Given the description of an element on the screen output the (x, y) to click on. 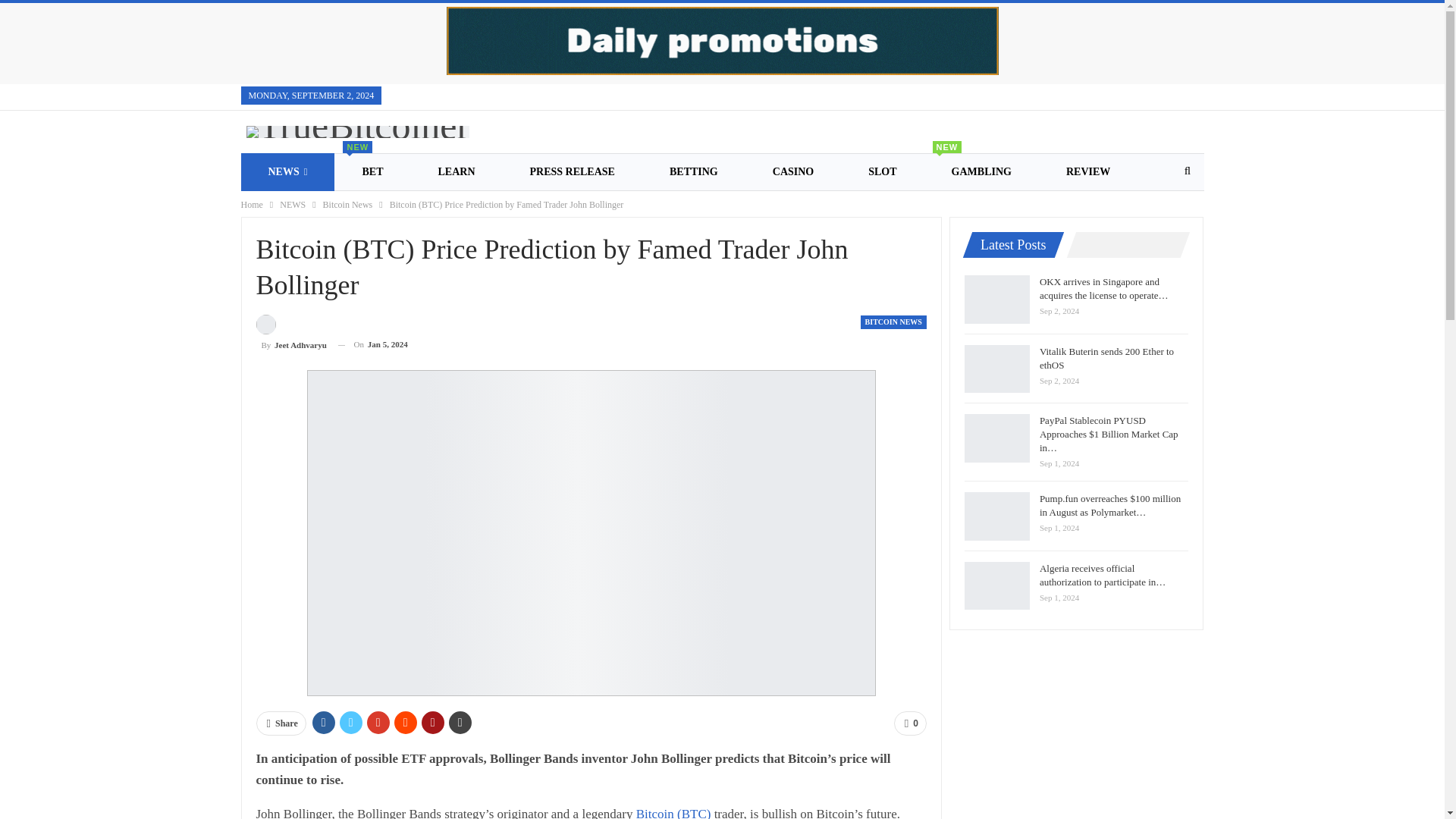
LEARN (456, 171)
CASINO (793, 171)
SLOT (882, 171)
0 (909, 723)
DISCLAIMER (666, 209)
BETTING (693, 171)
ABOUT US (781, 209)
Bitcoin News (347, 204)
BITCOIN NEWS (893, 322)
SERVICES (404, 209)
